Given the description of an element on the screen output the (x, y) to click on. 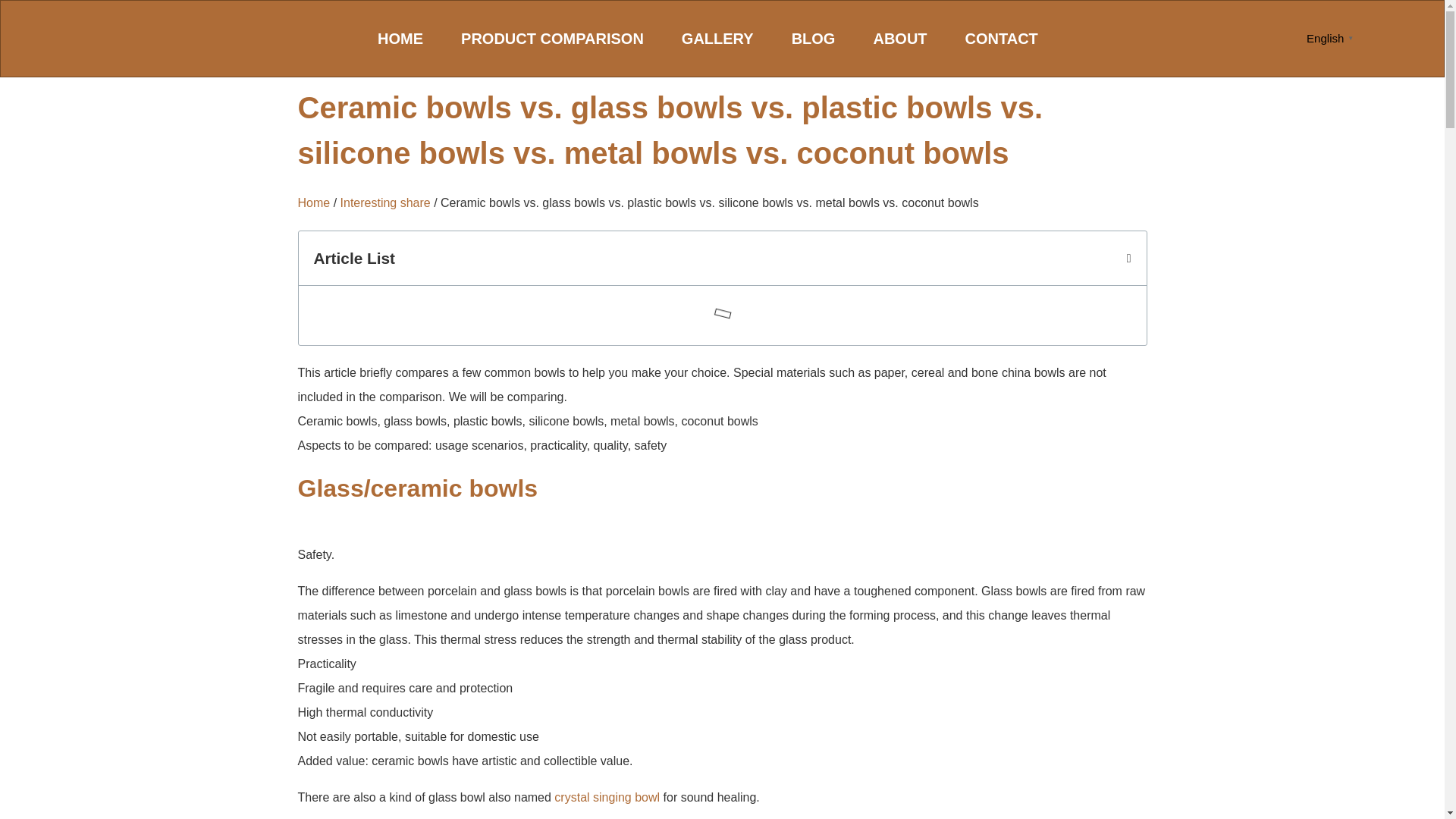
GALLERY (717, 38)
CONTACT (1001, 38)
crystal singing bowl (606, 797)
PRODUCT COMPARISON (552, 38)
HOME (400, 38)
Interesting share (385, 202)
BLOG (813, 38)
Home (313, 202)
ABOUT (899, 38)
